Given the description of an element on the screen output the (x, y) to click on. 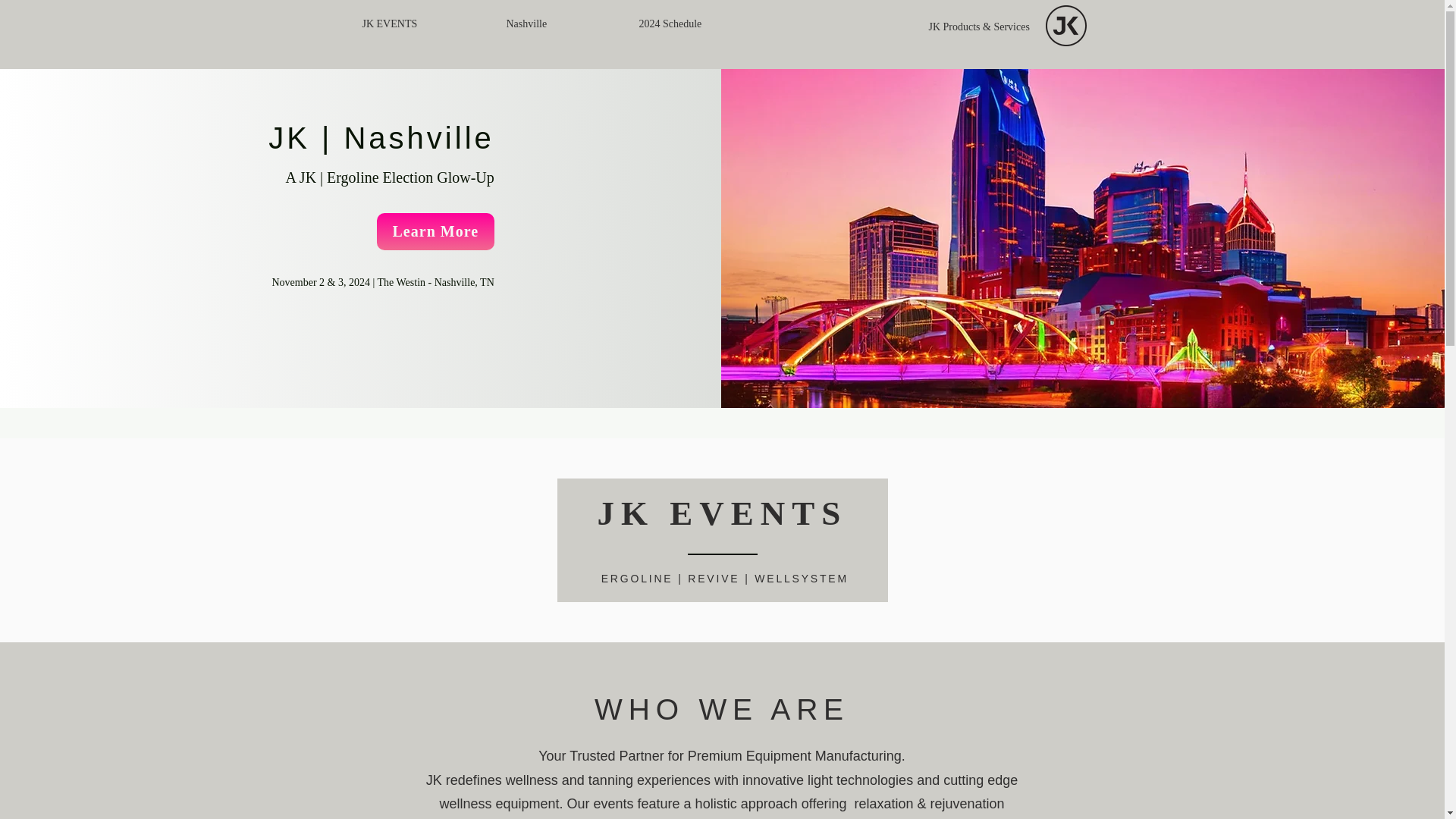
Nashville (561, 23)
2024 Schedule (707, 23)
Learn More (436, 231)
JK EVENTS (422, 23)
